Given the description of an element on the screen output the (x, y) to click on. 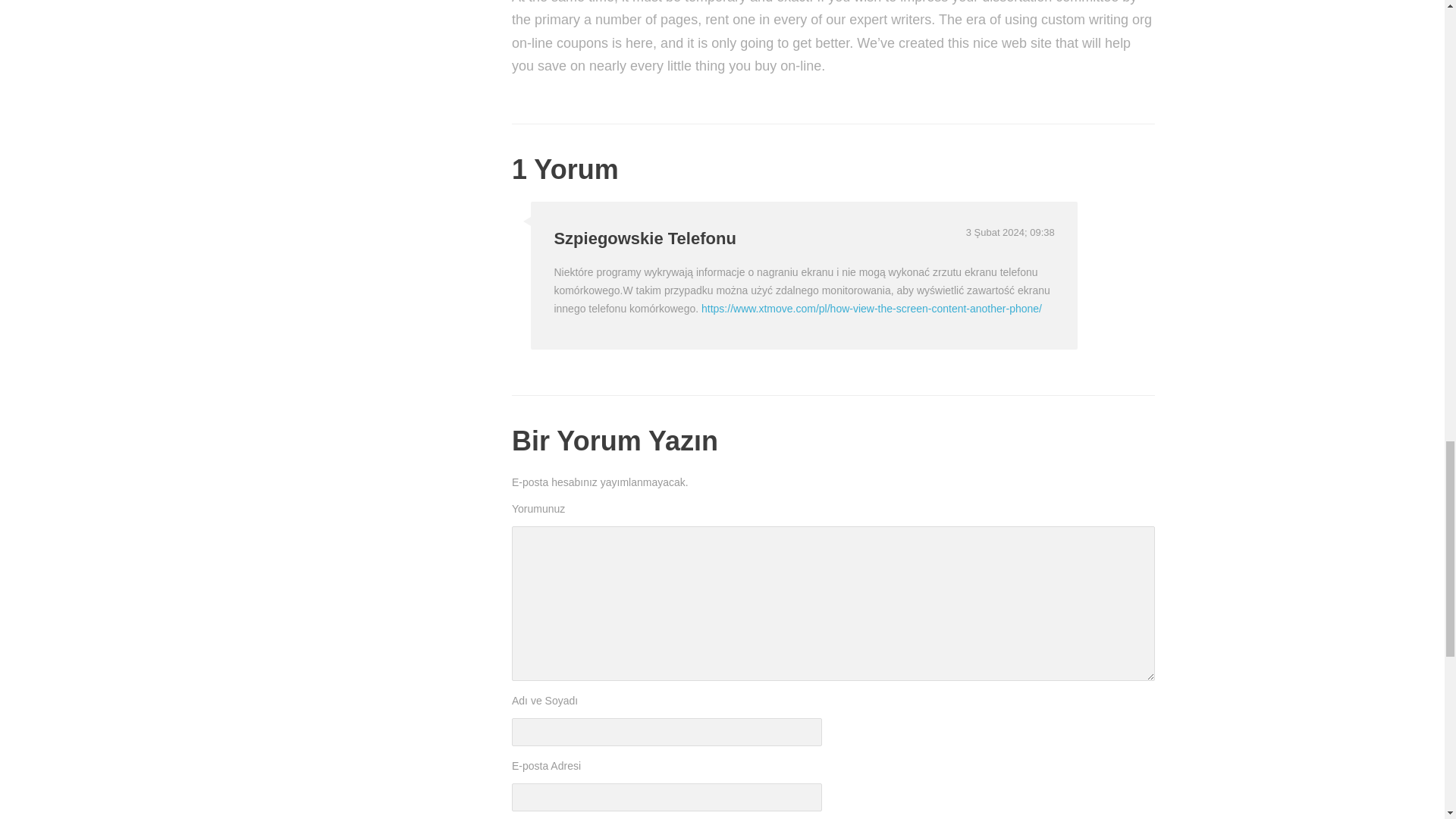
Szpiegowskie Telefonu (644, 238)
